Given the description of an element on the screen output the (x, y) to click on. 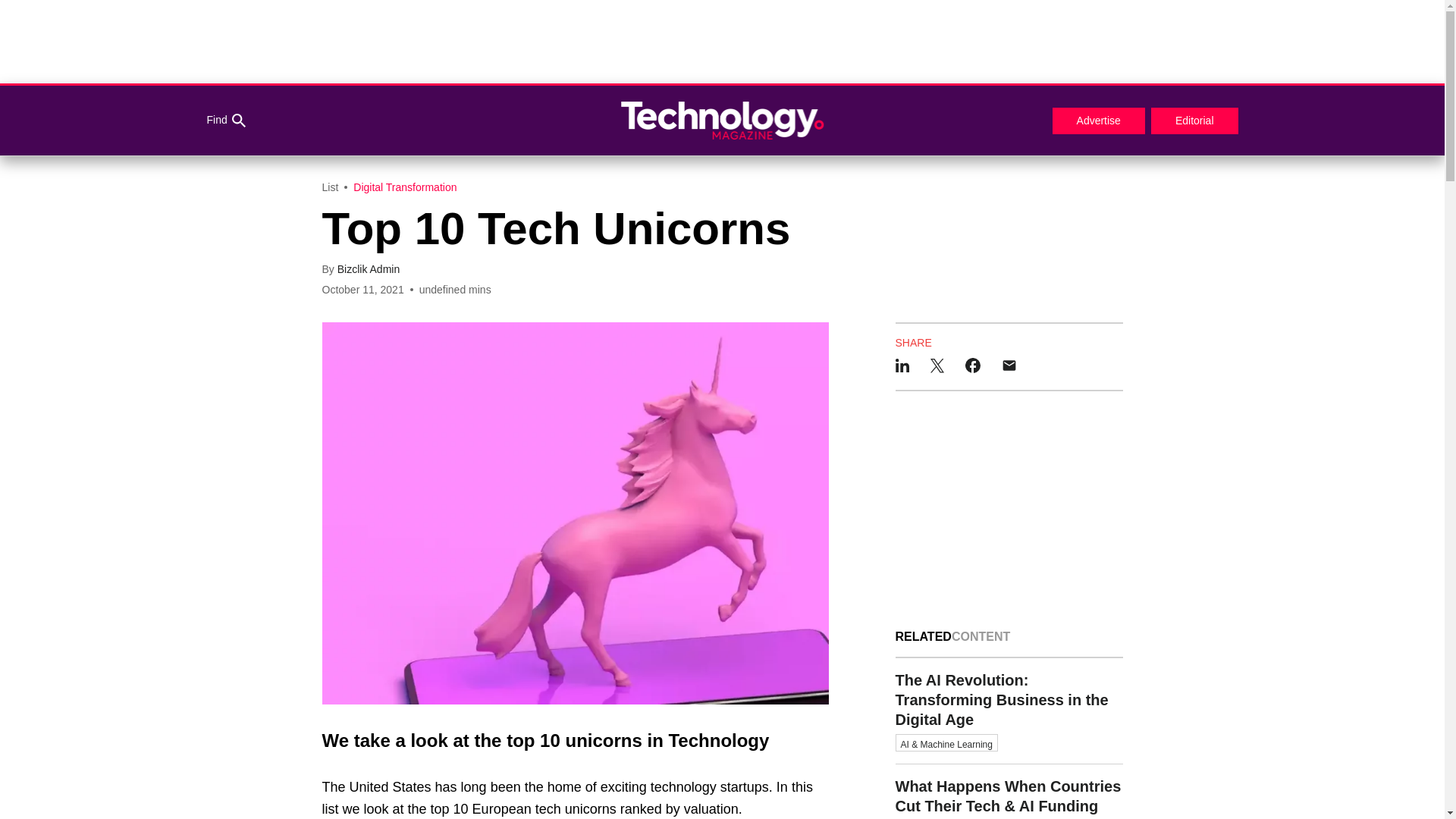
Bizclik Admin (367, 268)
Advertise (1098, 121)
Find (225, 120)
Editorial (1195, 121)
